Given the description of an element on the screen output the (x, y) to click on. 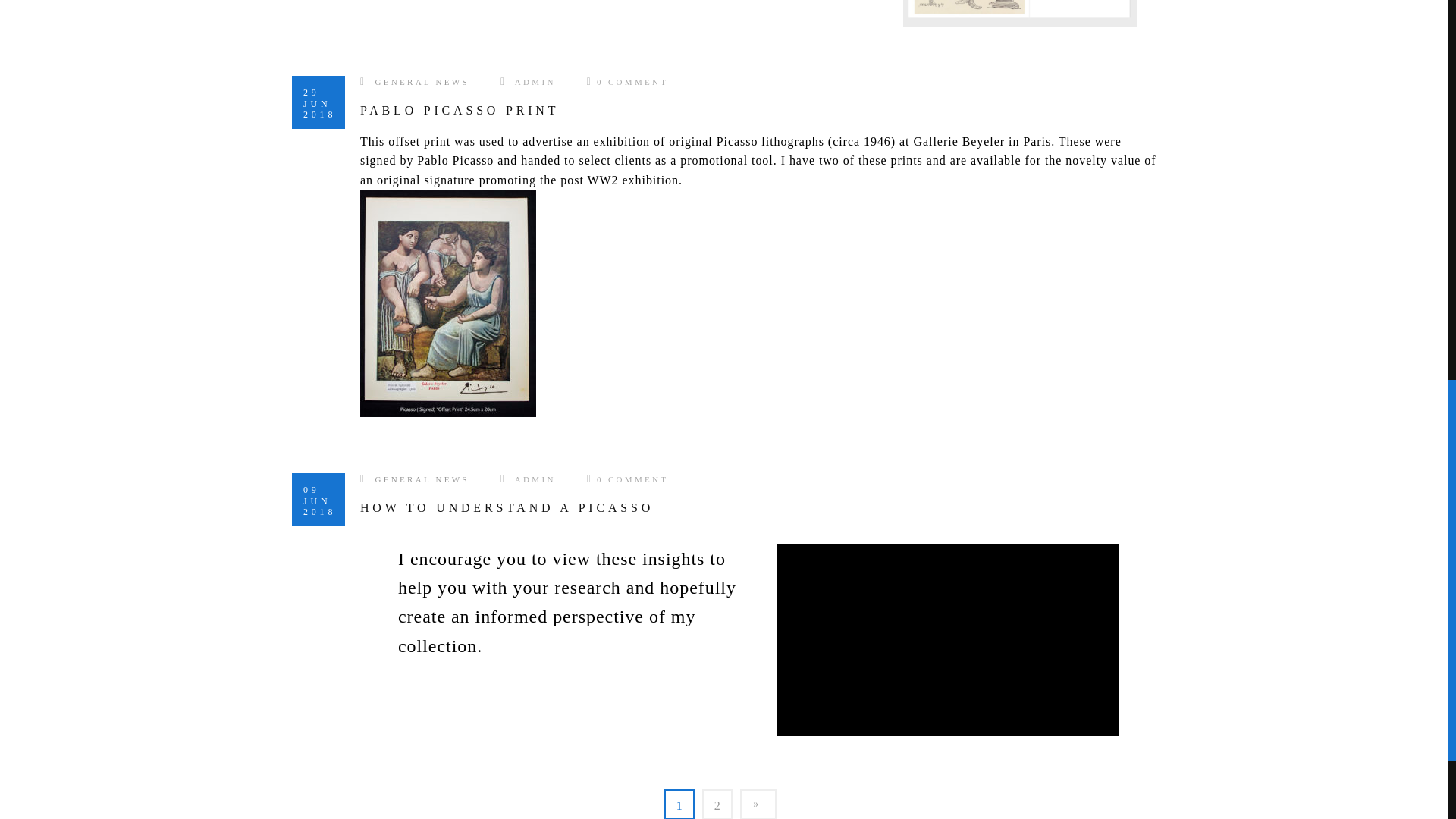
Go to top (1409, 22)
GENERAL NEWS (421, 81)
GENERAL NEWS (421, 479)
PABLO PICASSO PRINT (459, 110)
youtube Video Player (947, 640)
2 (716, 804)
HOW TO UNDERSTAND A PICASSO (506, 507)
